Given the description of an element on the screen output the (x, y) to click on. 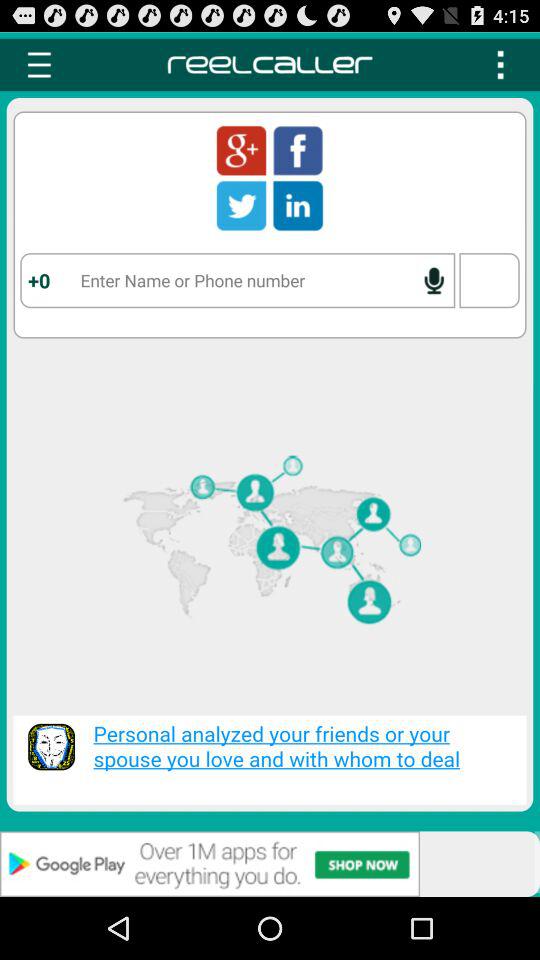
option (500, 64)
